Given the description of an element on the screen output the (x, y) to click on. 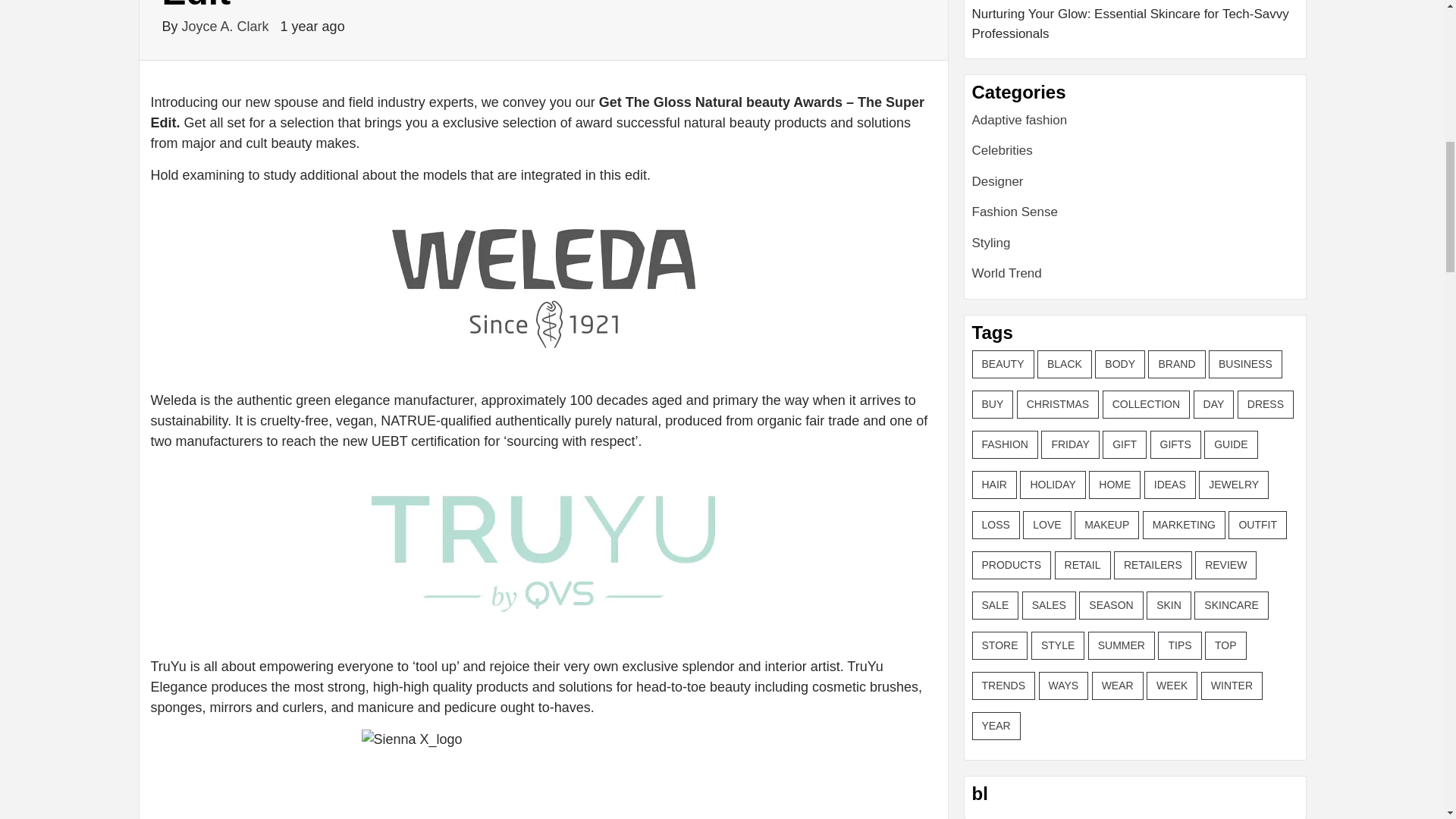
Adaptive fashion (1019, 120)
Fashion Sense (1015, 211)
Celebrities (1002, 150)
The Art and Science of Improving the Underwriting Process (1135, 2)
Joyce A. Clark (227, 26)
Designer (997, 181)
